Given the description of an element on the screen output the (x, y) to click on. 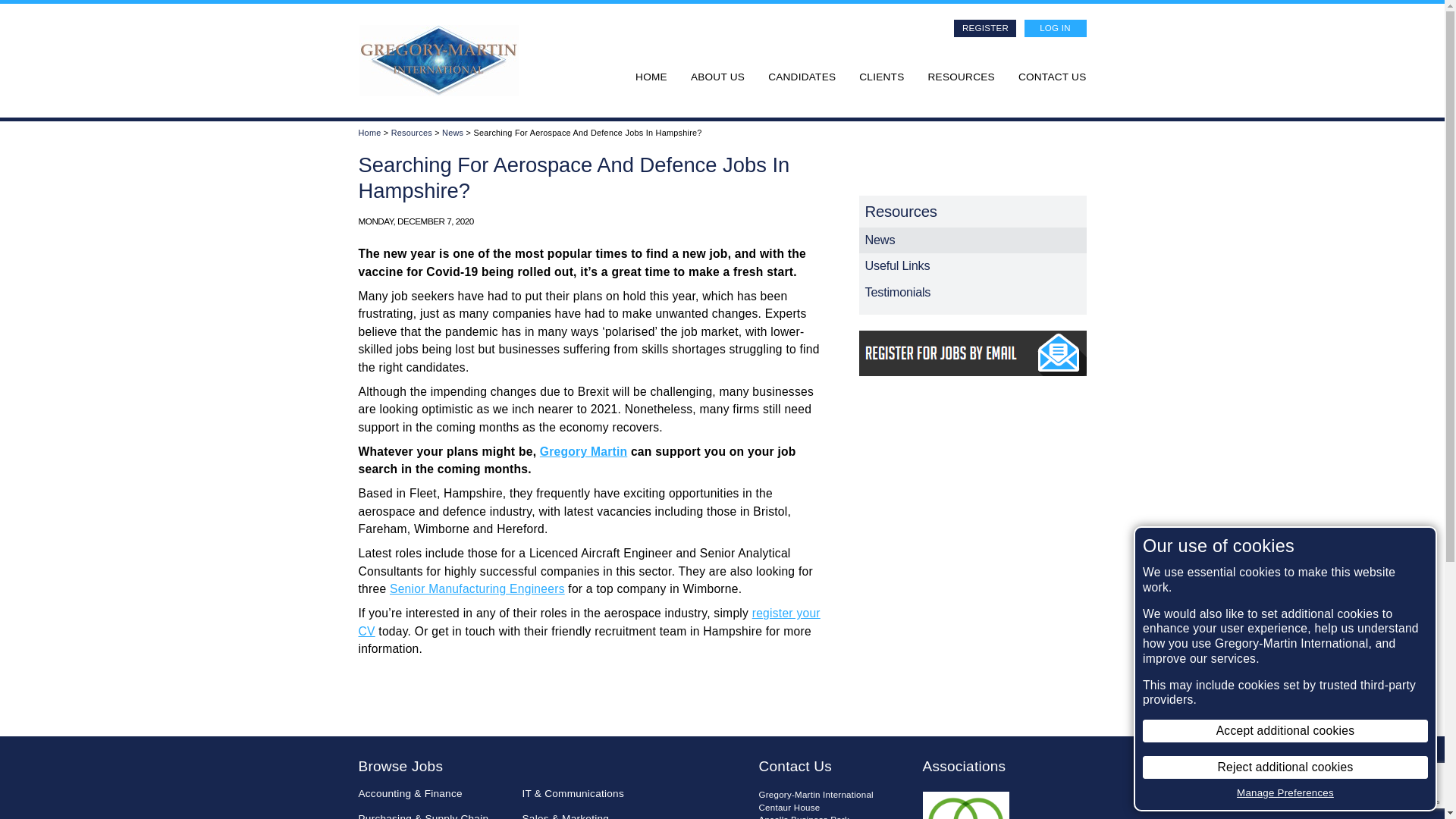
REGISTER (984, 27)
Resources (972, 211)
HOME (650, 77)
News (972, 240)
News (452, 132)
Home (369, 132)
Resources (411, 132)
CANDIDATES (801, 77)
ABOUT US (717, 77)
Useful Links (972, 266)
